Given the description of an element on the screen output the (x, y) to click on. 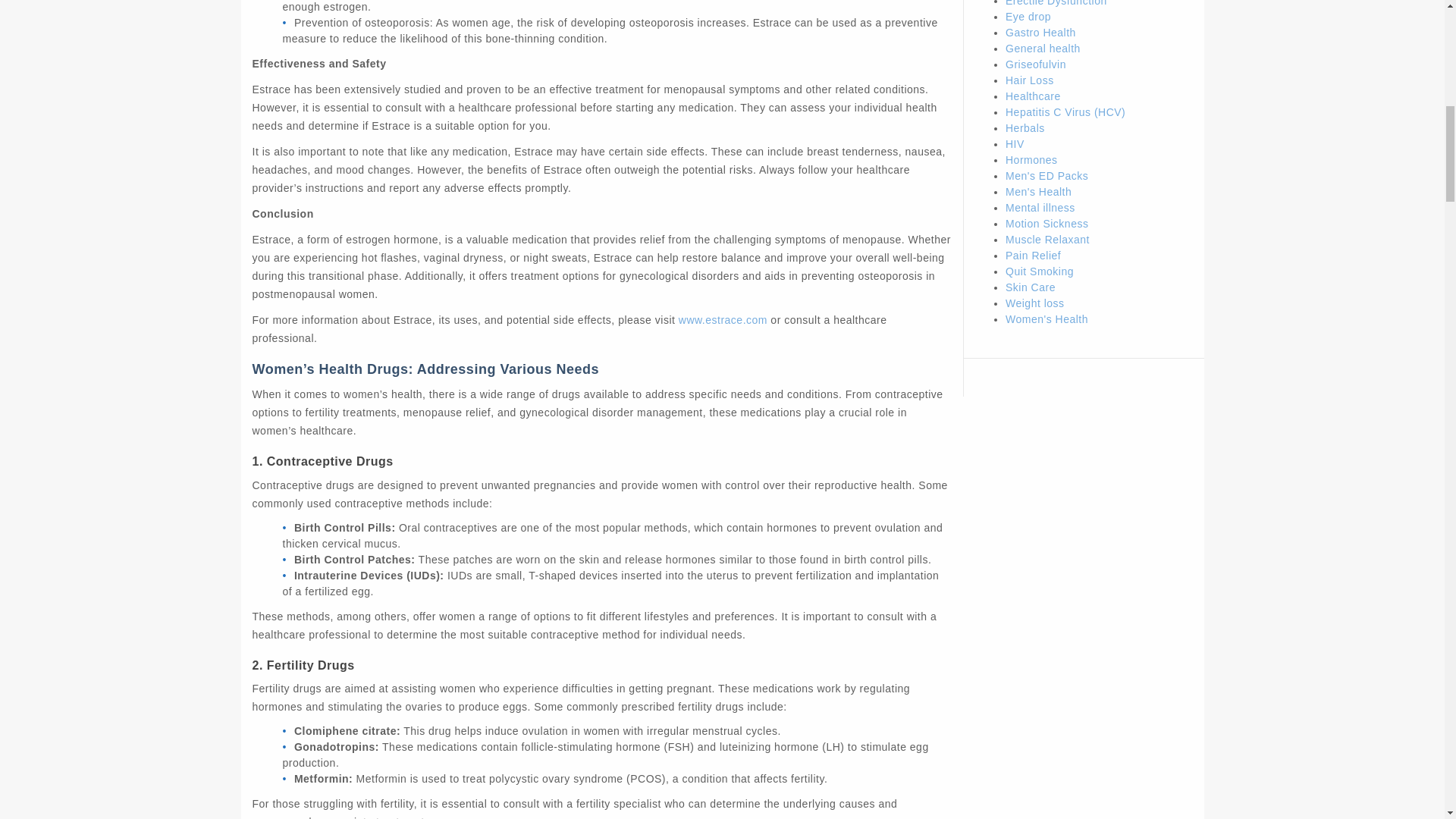
www.estrace.com (722, 319)
